Given the description of an element on the screen output the (x, y) to click on. 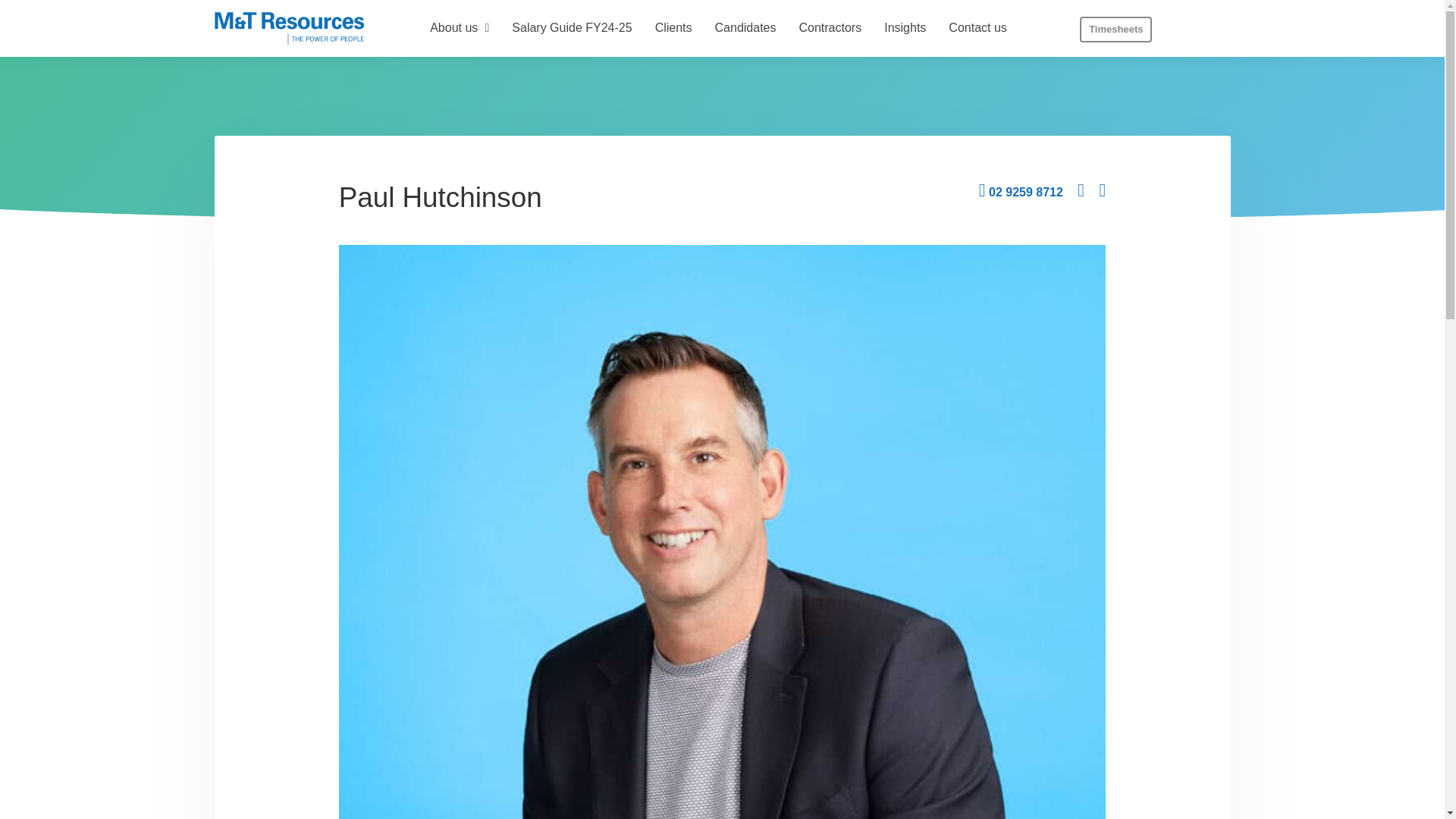
Contractors (829, 28)
Contact us (976, 28)
Insights (904, 28)
About us (459, 28)
Clients (673, 28)
Timesheets (1115, 29)
Salary Guide FY24-25 (571, 28)
Candidates (745, 28)
02 9259 8712 (1020, 192)
